Given the description of an element on the screen output the (x, y) to click on. 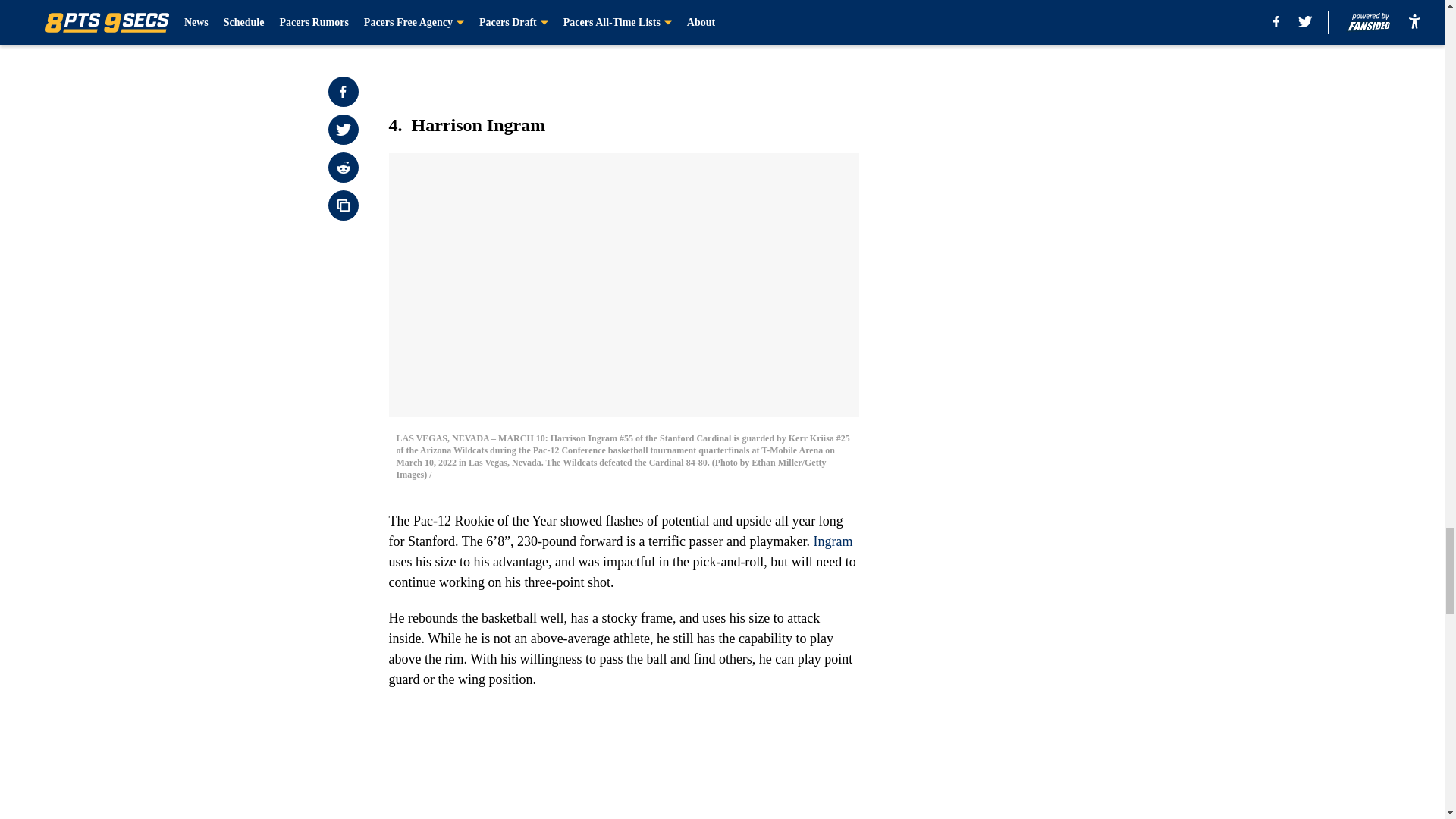
Ingram (831, 540)
